Given the description of an element on the screen output the (x, y) to click on. 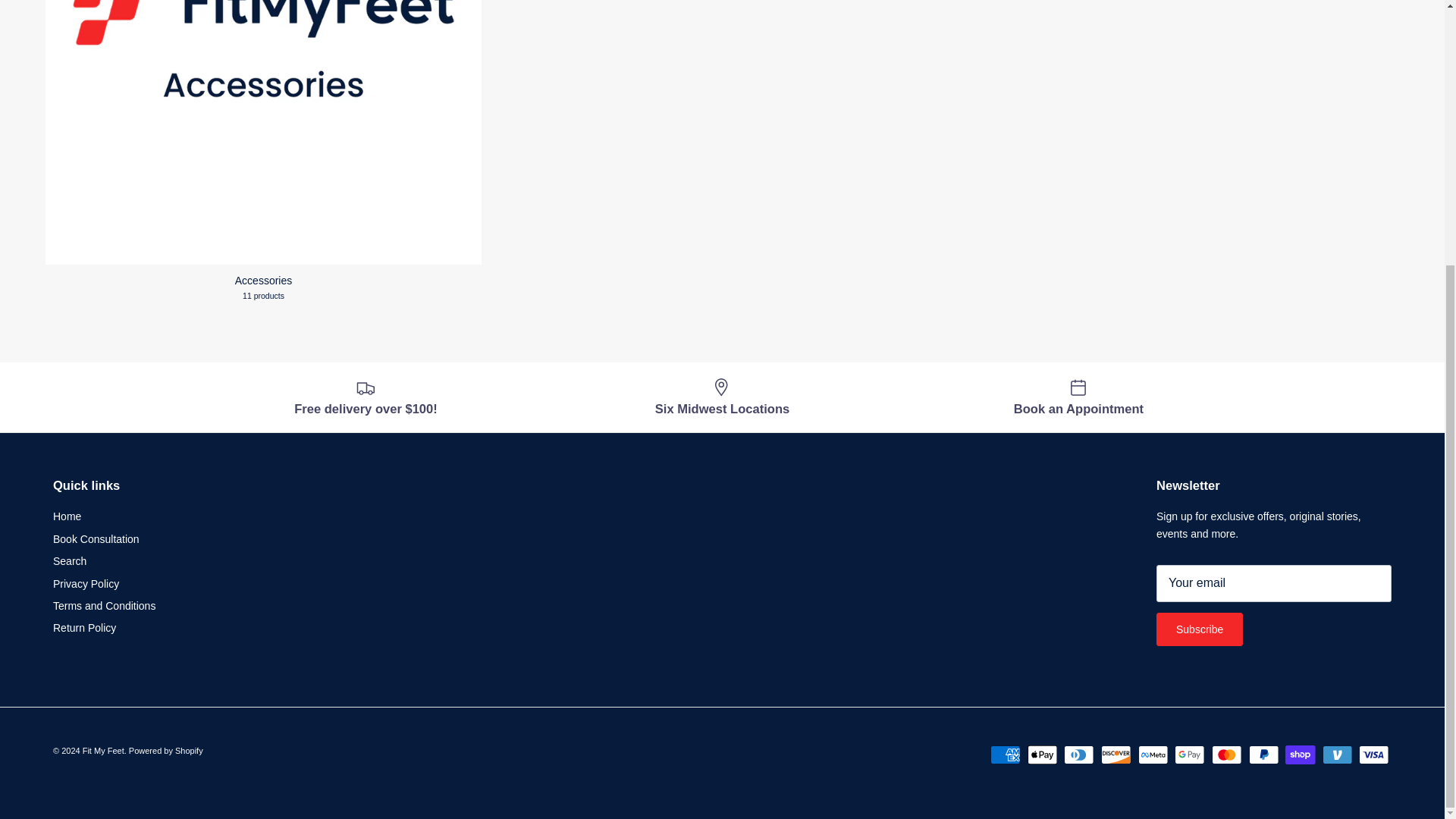
Visa (1373, 754)
Mastercard (1226, 754)
American Express (1005, 754)
Google Pay (1189, 754)
Discover (1115, 754)
Shop Pay (1299, 754)
Venmo (1337, 754)
Meta Pay (1152, 754)
Apple Pay (1042, 754)
Diners Club (1078, 754)
PayPal (1262, 754)
